Given the description of an element on the screen output the (x, y) to click on. 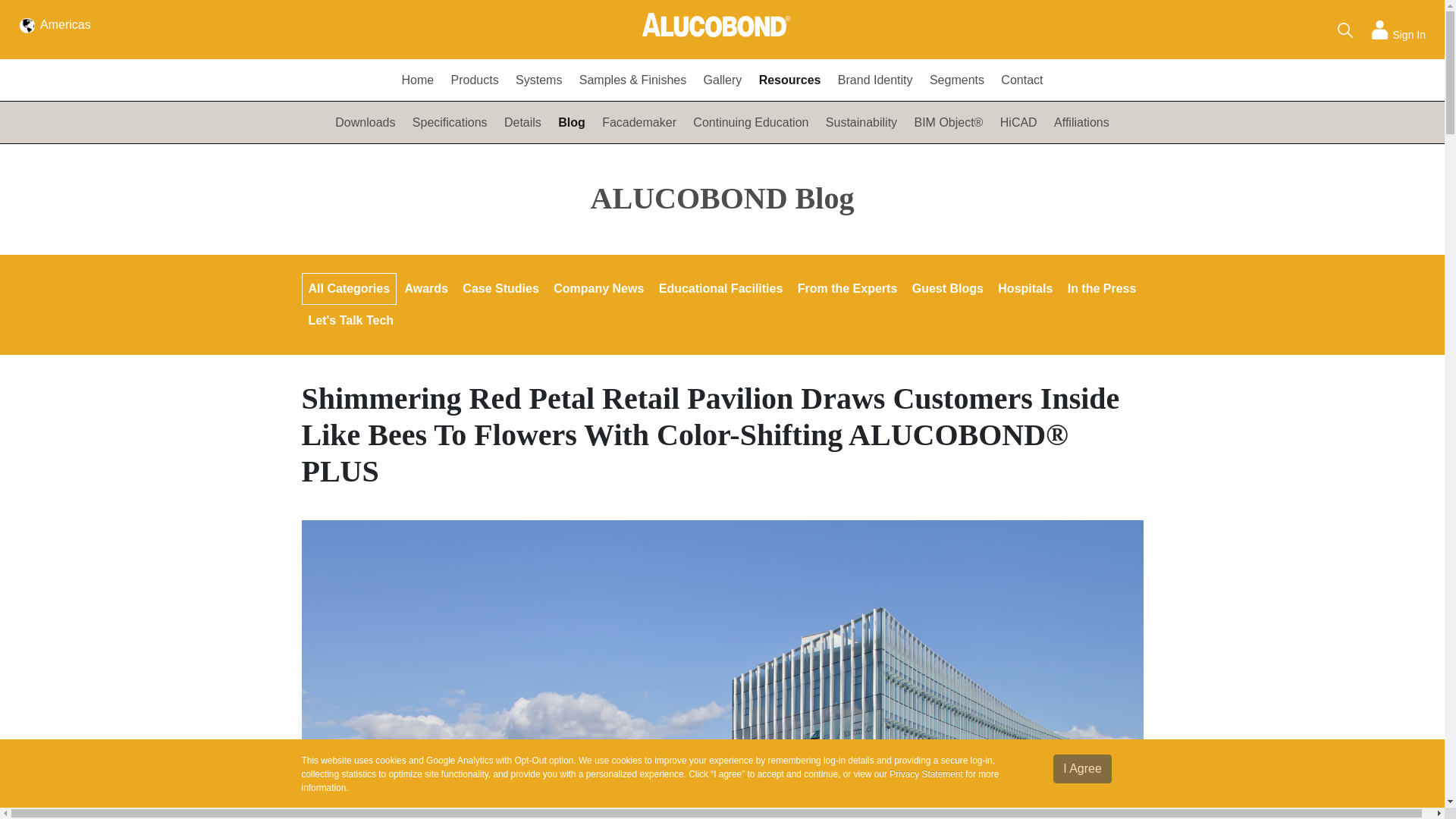
Systems (538, 80)
Brand Identity (875, 80)
Segments (956, 80)
Products (474, 80)
Home (417, 80)
Americas (54, 23)
Gallery (721, 80)
Contact (1021, 80)
